Given the description of an element on the screen output the (x, y) to click on. 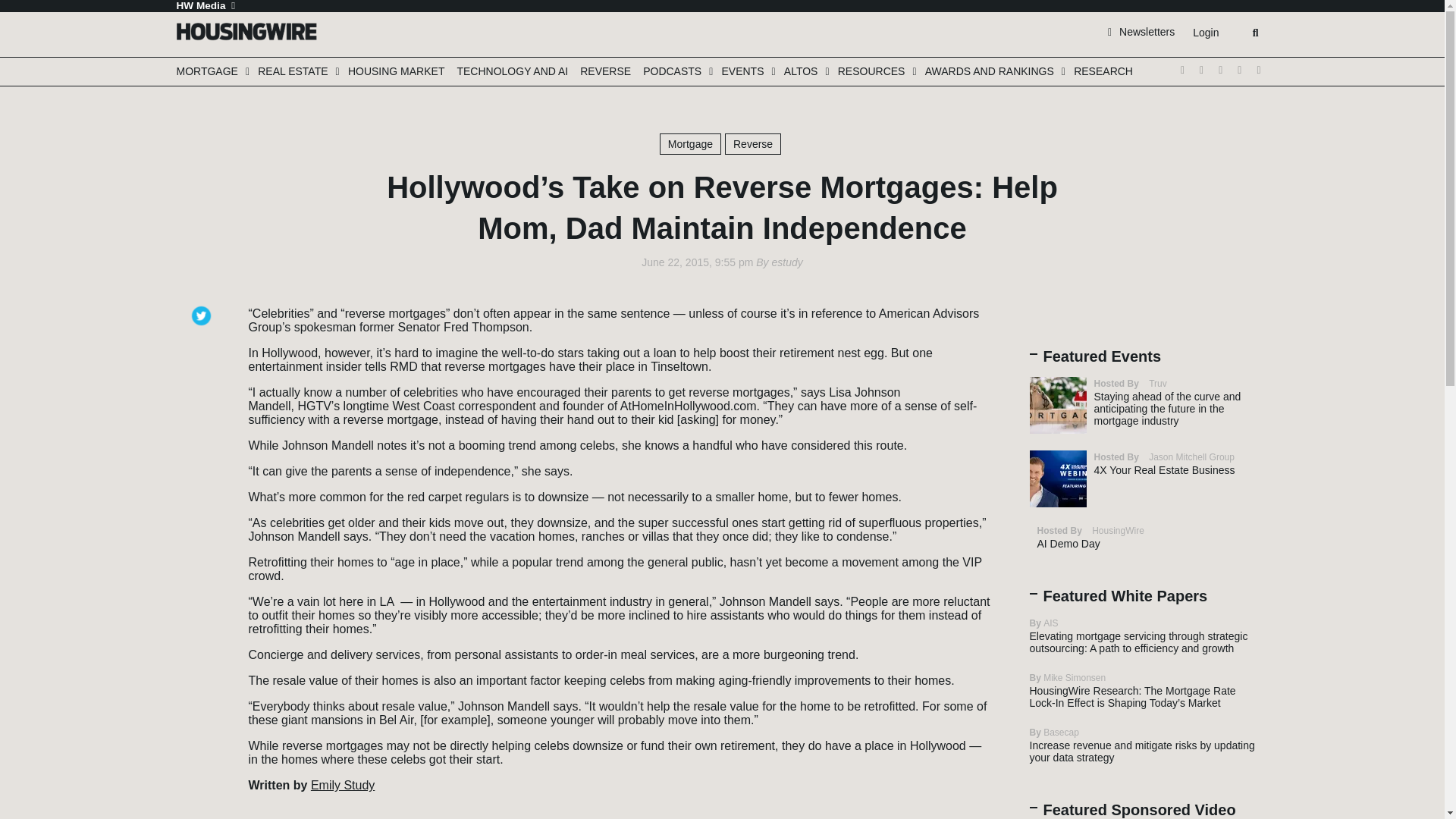
Click to share on Twitter (203, 309)
Click to share on Facebook (203, 331)
Click to share on LinkedIn (203, 354)
Login (1205, 32)
Newsletters (1141, 31)
Posts by estudy (786, 262)
Click to email a link to a friend (203, 377)
Click to copy link (203, 399)
